Given the description of an element on the screen output the (x, y) to click on. 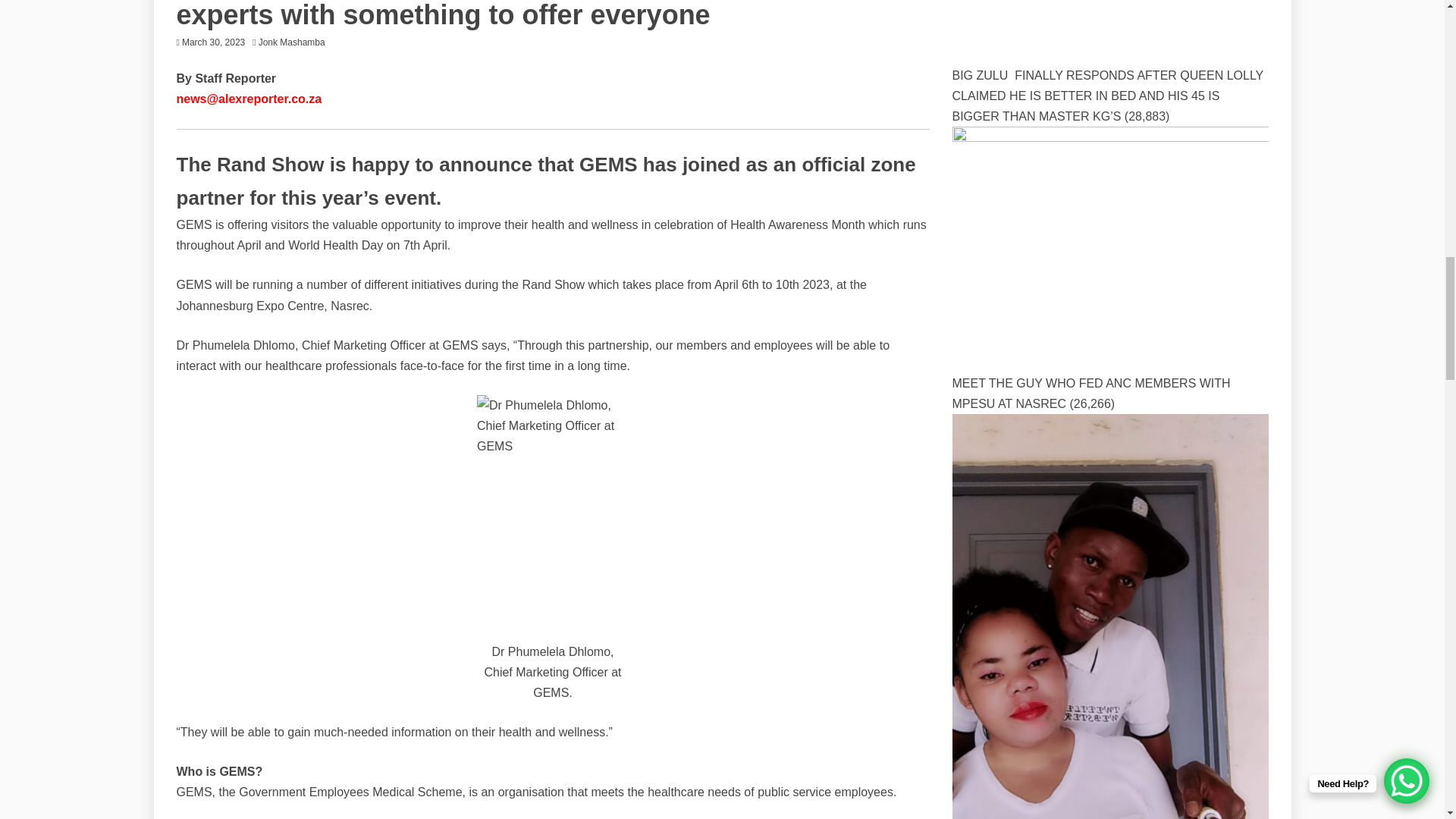
March 30, 2023 (213, 41)
Jonk Mashamba (296, 41)
